Given the description of an element on the screen output the (x, y) to click on. 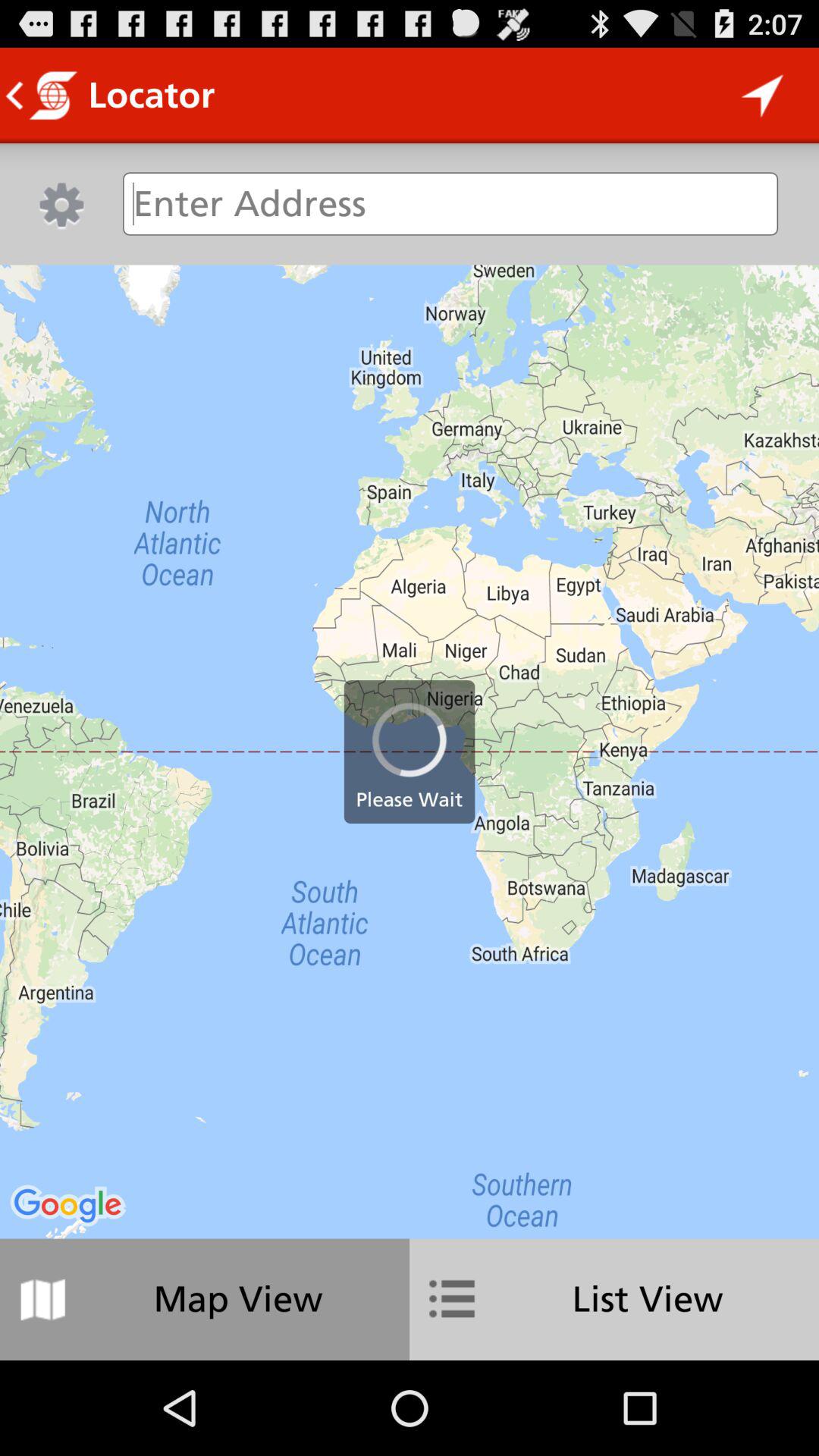
open icon to the left of list view (204, 1299)
